Given the description of an element on the screen output the (x, y) to click on. 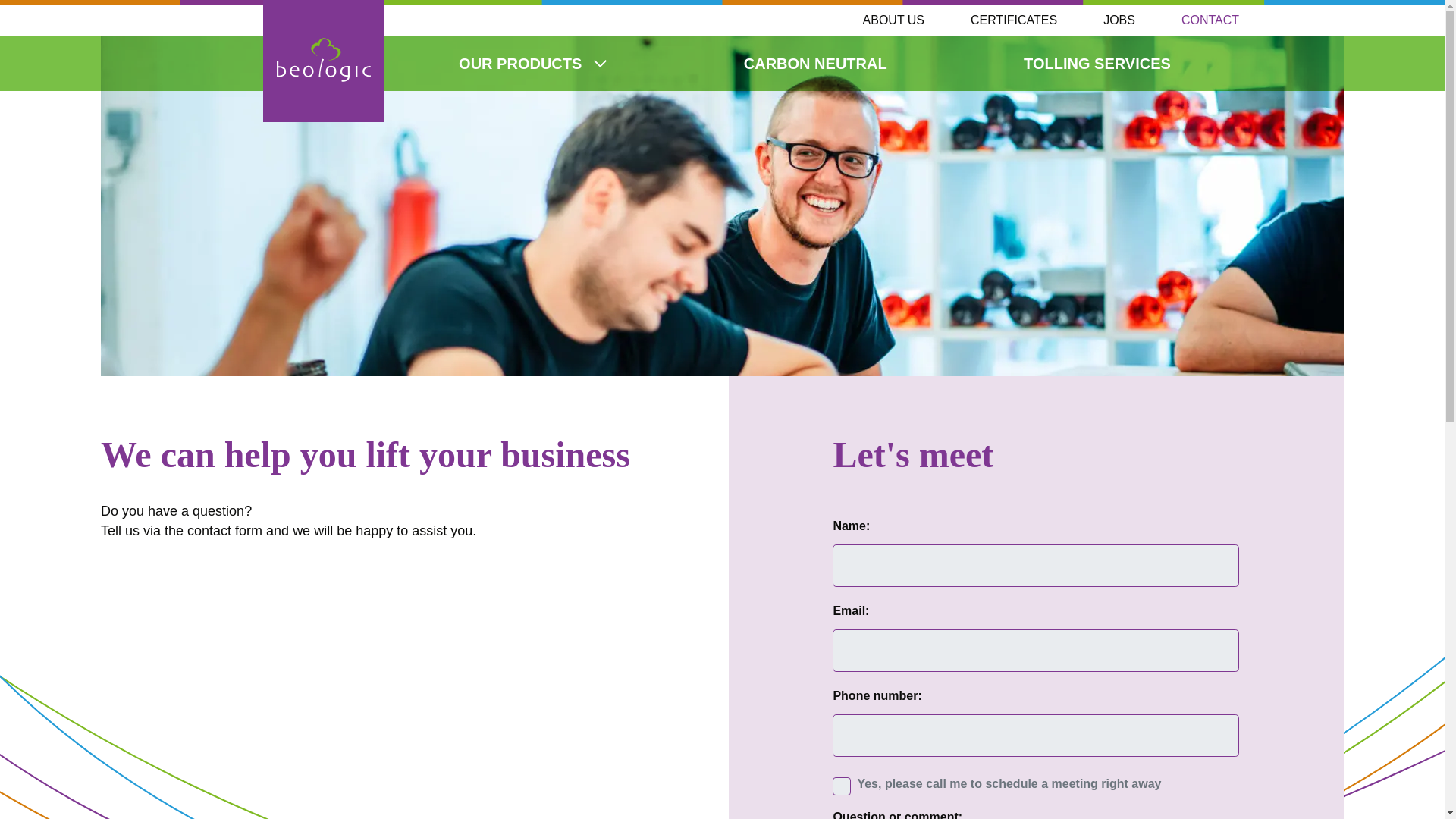
CERTIFICATES (1008, 20)
JOBS (1114, 20)
TOLLING SERVICES (1097, 63)
CONTACT (1205, 20)
ABOUT US (888, 20)
CARBON NEUTRAL (815, 63)
